Given the description of an element on the screen output the (x, y) to click on. 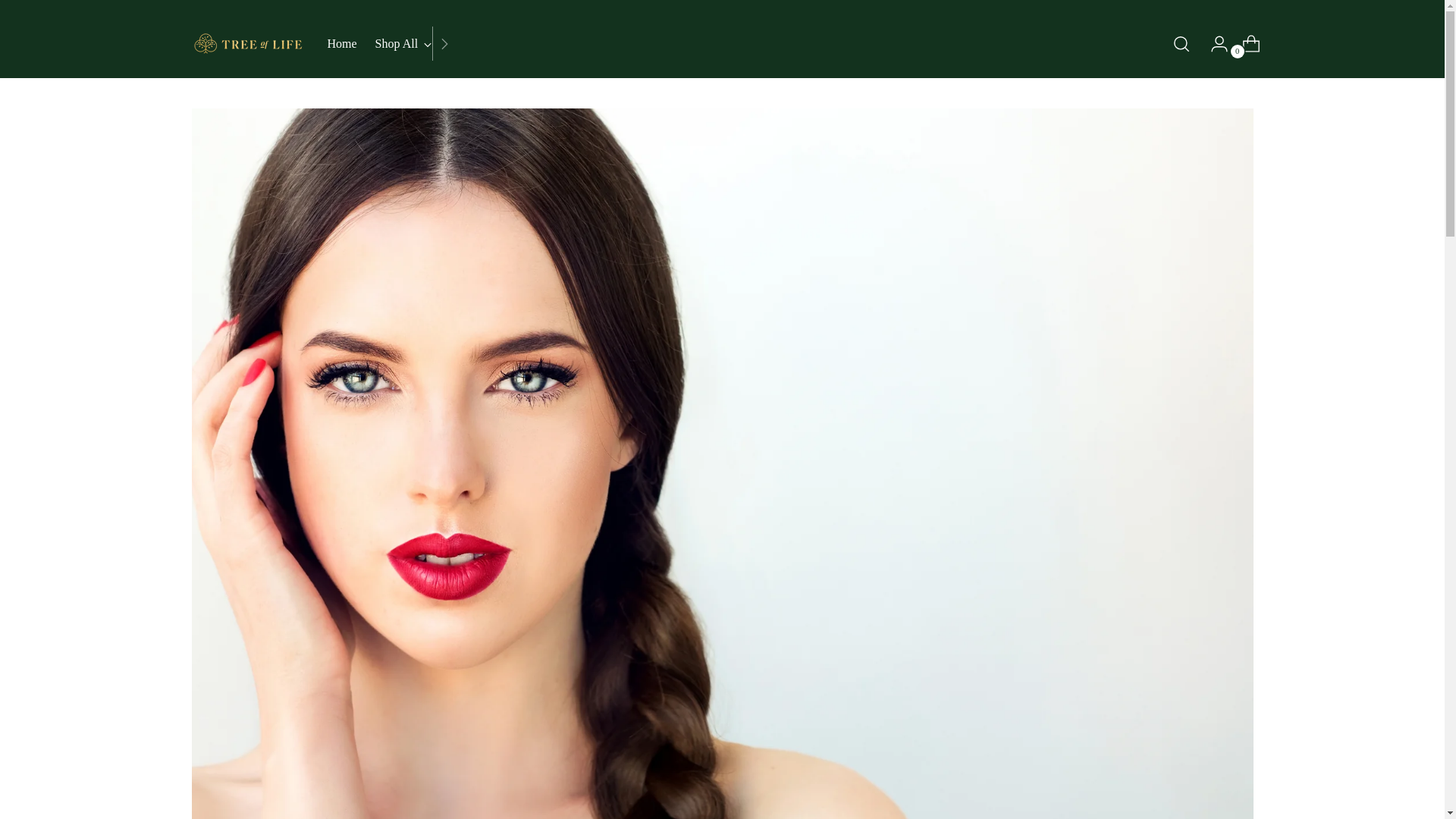
Home (341, 43)
Next (443, 43)
Shop All (390, 43)
0 (402, 43)
Shop All (1245, 43)
